Given the description of an element on the screen output the (x, y) to click on. 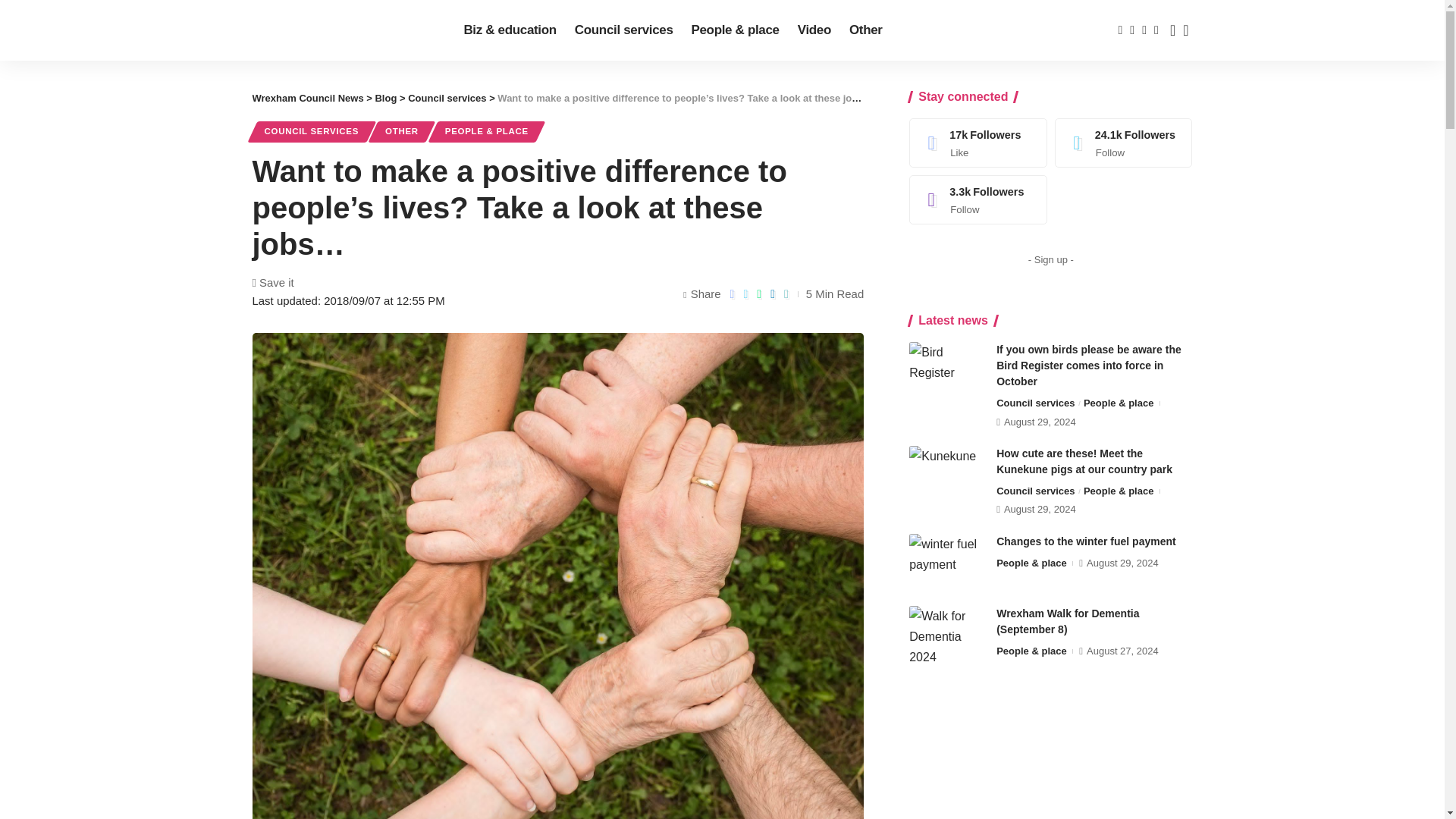
Facebook (978, 142)
Go to the Council services Category archives. (446, 98)
Go to Wrexham Council News. (306, 98)
Council services (624, 30)
Instagram (978, 199)
Go to Blog. (385, 98)
Twitter (1123, 142)
